Given the description of an element on the screen output the (x, y) to click on. 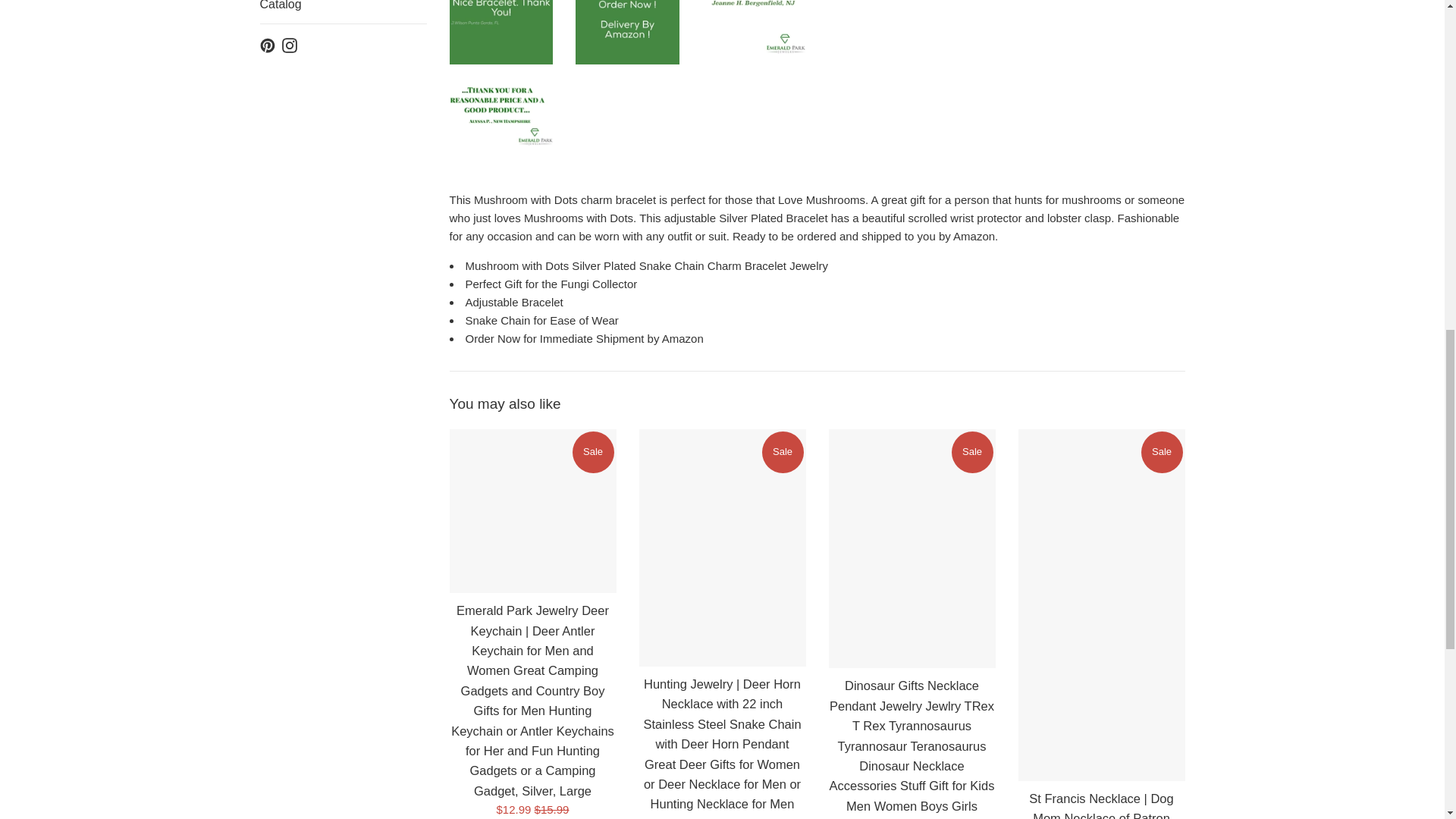
Visa (1170, 787)
Shop Pay (1138, 787)
Occasions (342, 25)
Dave The Bunny on Instagram (289, 256)
Mastercard (1072, 787)
American Express (909, 787)
Catalog (342, 217)
Occupation (342, 64)
Dave The Bunny on Pinterest (267, 256)
Instagram (289, 256)
